Given the description of an element on the screen output the (x, y) to click on. 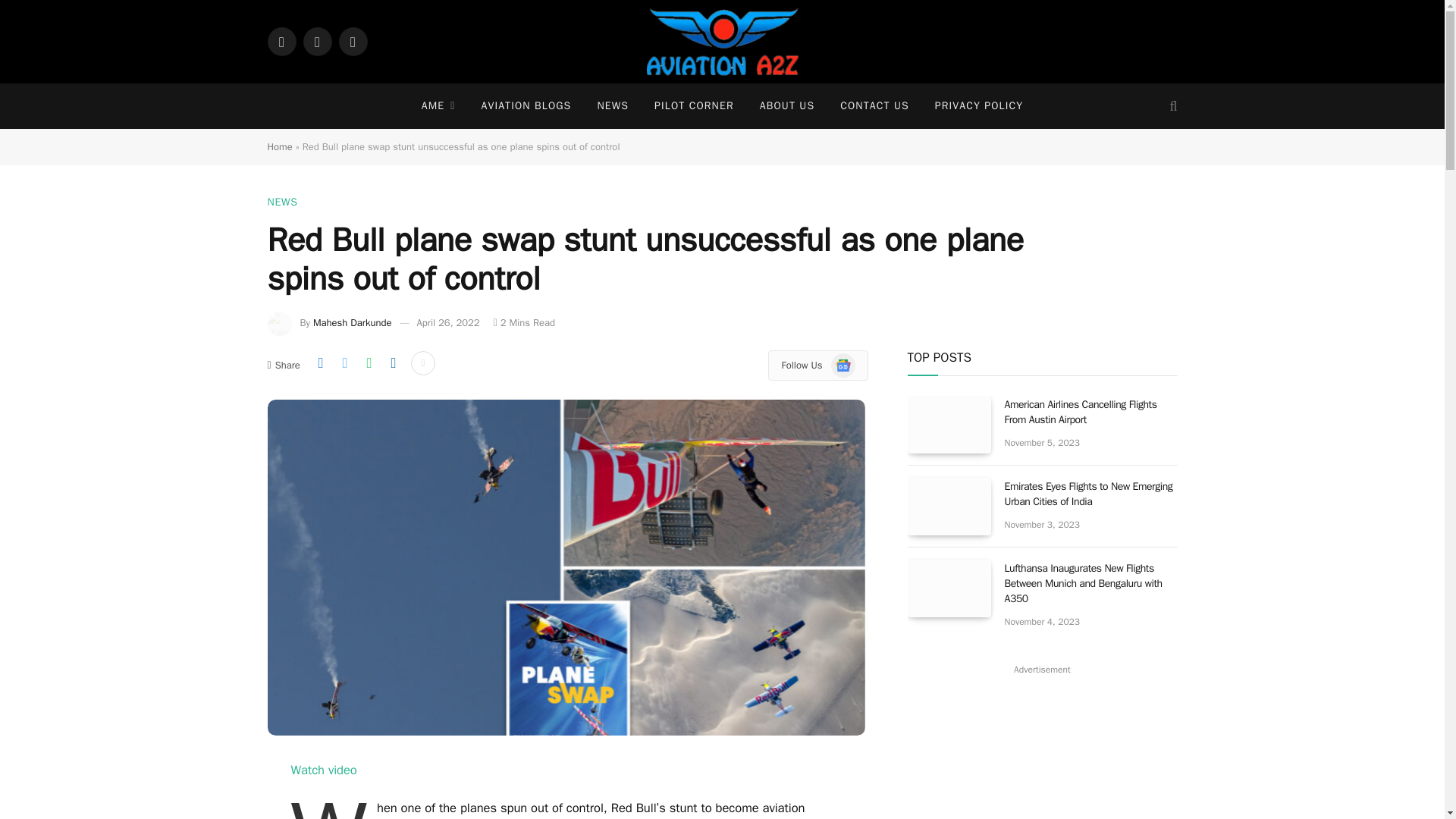
AVIATION BLOGS (525, 105)
Mahesh Darkunde (352, 322)
Aviation A2Z (722, 41)
CONTACT US (874, 105)
Show More Social Sharing (422, 363)
Share on WhatsApp (369, 363)
PILOT CORNER (694, 105)
Share on Facebook (319, 363)
NEWS (281, 201)
Home (279, 146)
NEWS (612, 105)
Posts by Mahesh Darkunde (352, 322)
PRIVACY POLICY (978, 105)
Google News (843, 364)
